Given the description of an element on the screen output the (x, y) to click on. 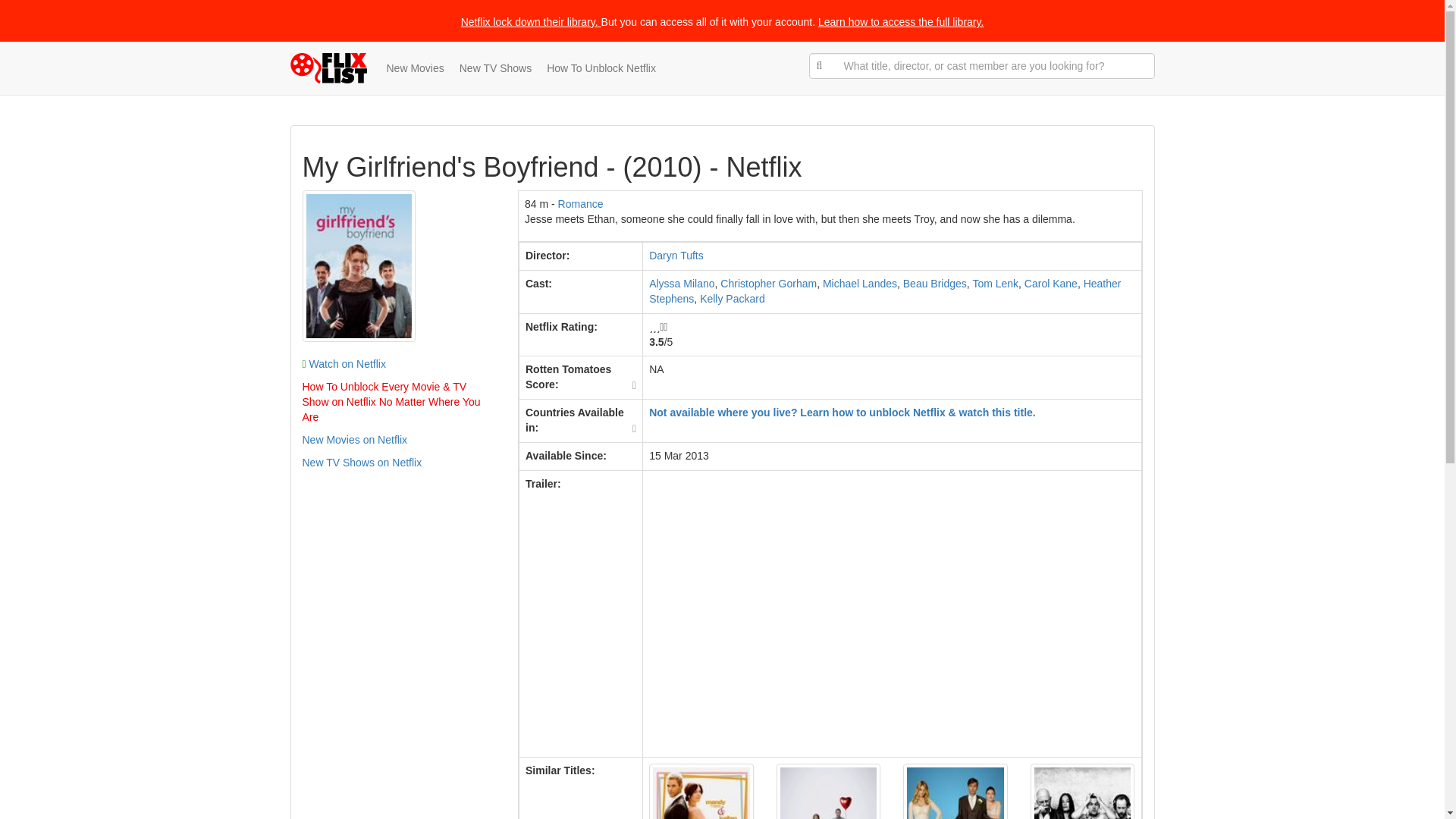
New Movies (414, 68)
Ecstasy (1082, 791)
New TV Shows (494, 68)
Tom Lenk (994, 283)
I Hate Valentine's Day (828, 791)
Michael Landes (859, 283)
New Movies on Netflix (354, 439)
Christopher Gorham (768, 283)
Romance (580, 203)
Carol Kane (1051, 283)
New TV Shows on Netflix (361, 462)
Alyssa Milano (681, 283)
My Girlfriend's Boyfriend (357, 266)
Watch on Netflix (343, 363)
Heather Stephens (885, 290)
